Given the description of an element on the screen output the (x, y) to click on. 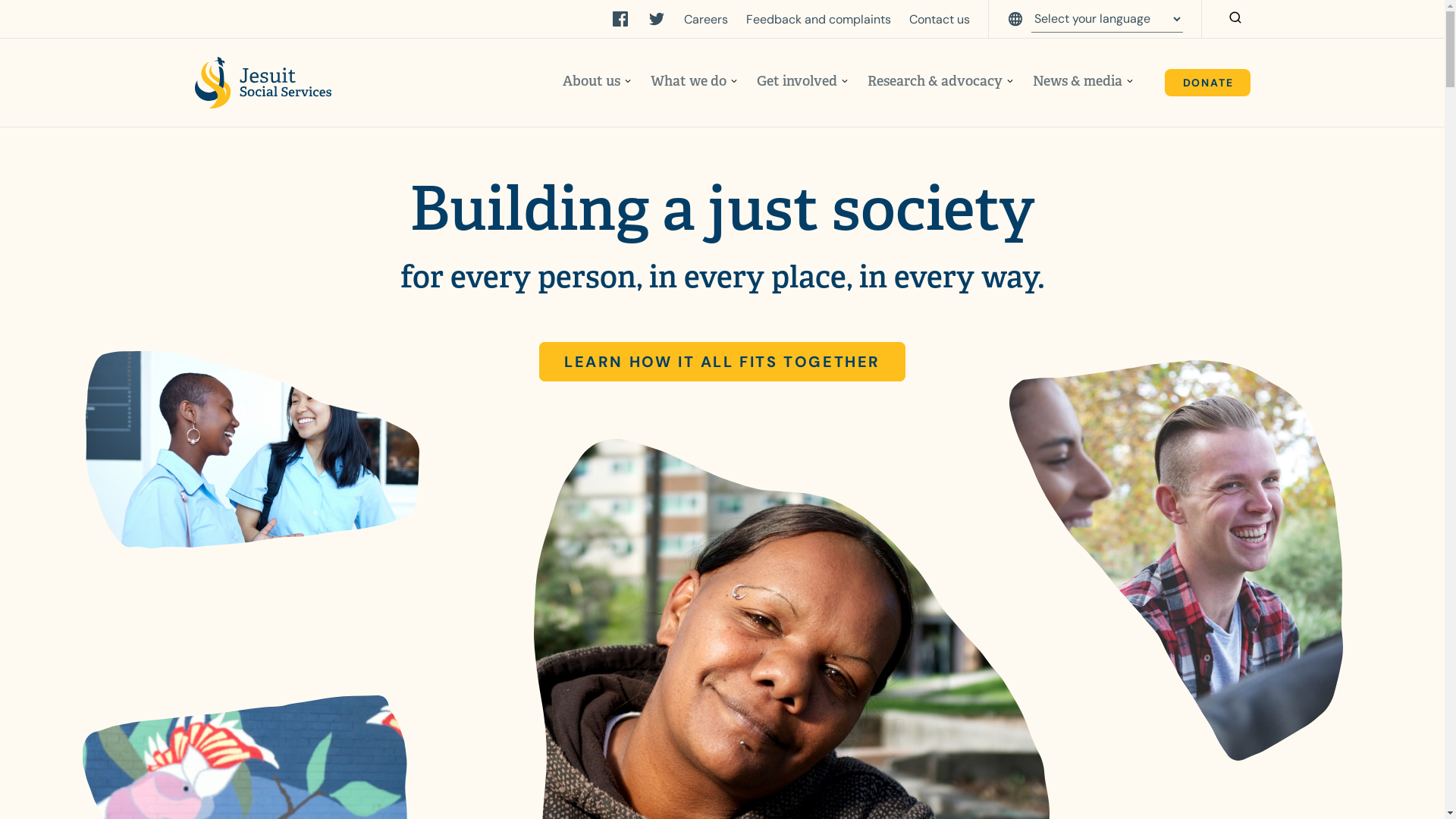
Contact us Element type: text (938, 19)
Skip to content Element type: text (17, 17)
Careers Element type: text (706, 19)
Research & advocacy Element type: text (934, 80)
Feedback and complaints Element type: text (818, 19)
Open submenu links for Get involved Element type: text (844, 81)
Facebook Element type: text (620, 18)
About us Element type: text (591, 80)
Search website Element type: text (1234, 18)
Open submenu links for What we do Element type: text (733, 81)
Open submenu links for News & media Element type: text (1129, 81)
Get involved Element type: text (796, 80)
News & media Element type: text (1077, 80)
Twitter Element type: text (656, 18)
Open submenu links for About us Element type: text (627, 81)
What we do Element type: text (688, 80)
LEARN HOW IT ALL FITS TOGETHER Element type: text (722, 361)
DONATE Element type: text (1207, 82)
Open submenu links for Research & advocacy Element type: text (1009, 81)
